Given the description of an element on the screen output the (x, y) to click on. 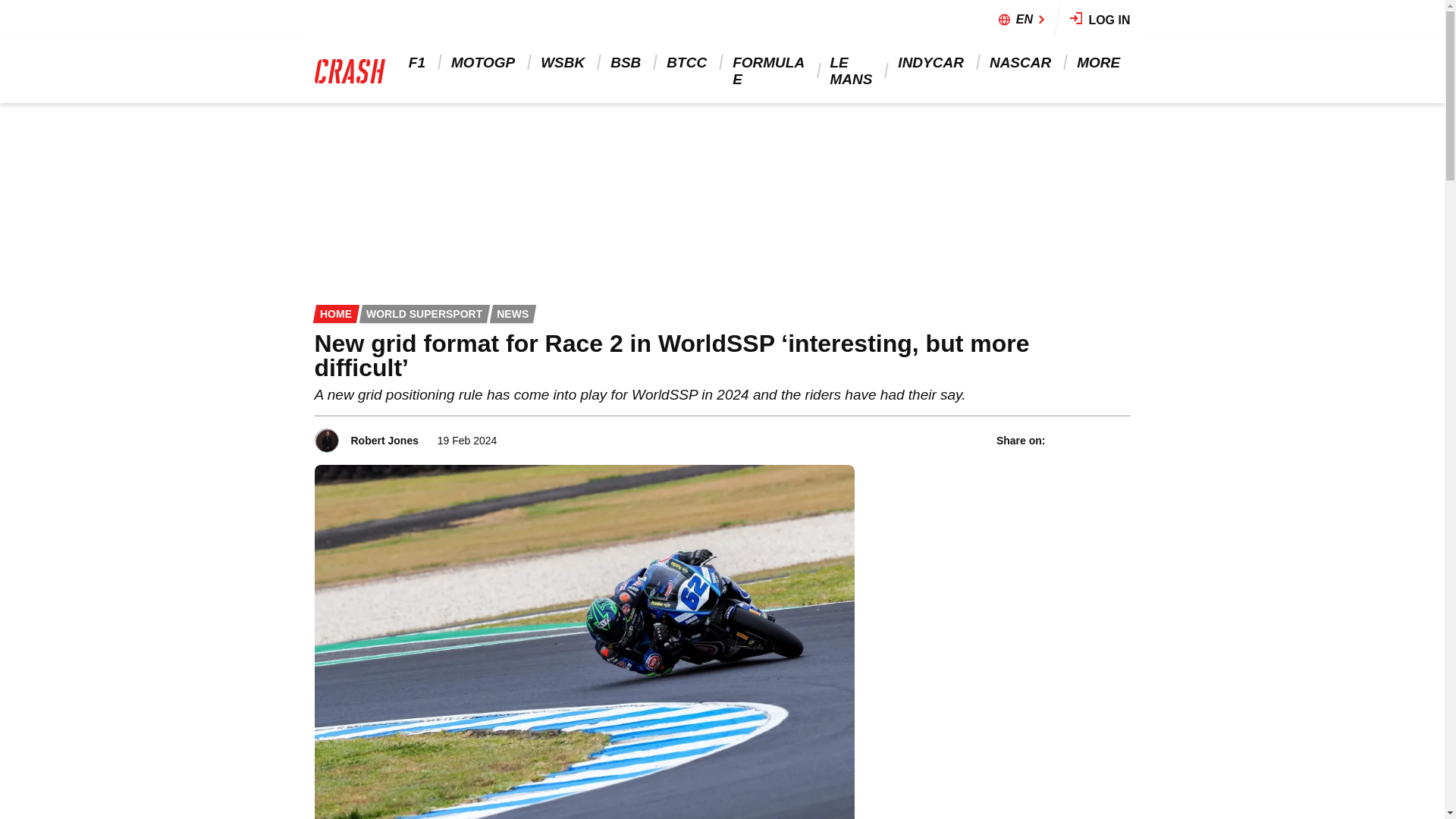
F1 (418, 62)
WSBK (563, 62)
Share to Linkedin (1099, 440)
LOG IN (1100, 19)
Share to Email (1119, 440)
Share to X (1080, 440)
MOTOGP (484, 62)
BSB (626, 62)
Share to Facebook (1060, 440)
